Given the description of an element on the screen output the (x, y) to click on. 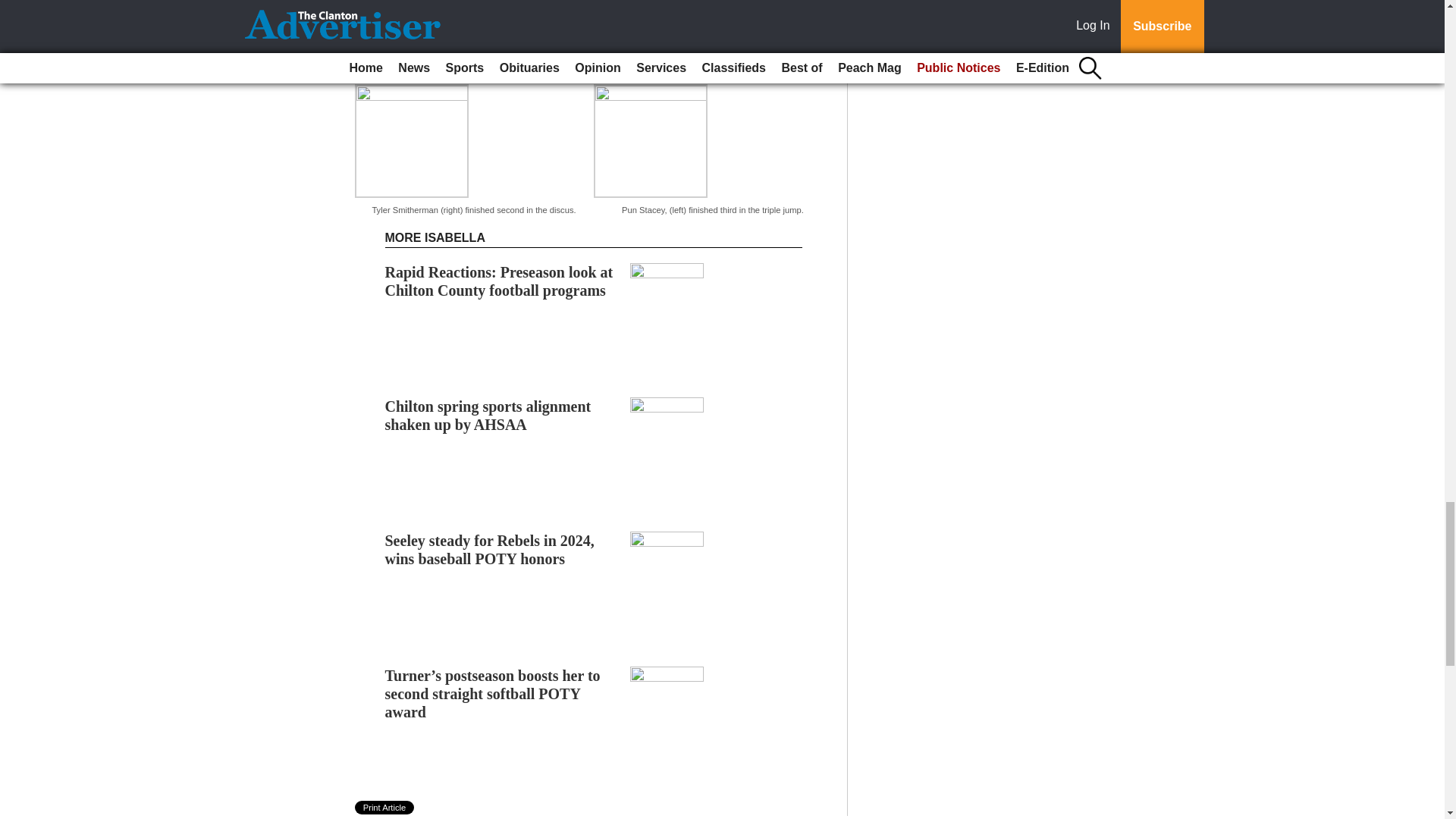
Seeley steady for Rebels in 2024, wins baseball POTY honors (489, 528)
Seeley steady for Rebels in 2024, wins baseball POTY honors (489, 528)
Chilton spring sports alignment shaken up by AHSAA (488, 393)
Chilton spring sports alignment shaken up by AHSAA (488, 393)
